Given the description of an element on the screen output the (x, y) to click on. 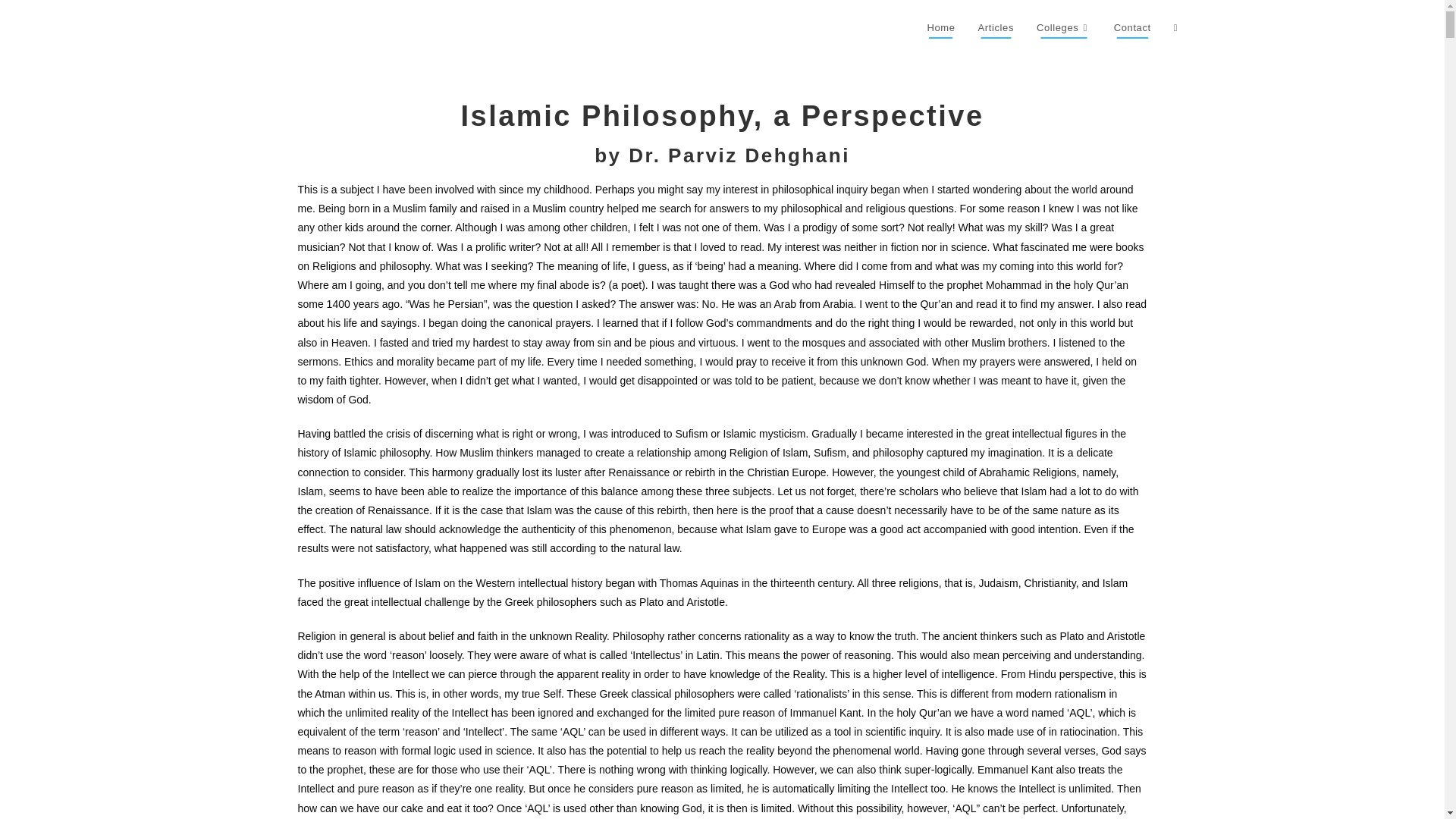
Colleges (1063, 28)
Home (940, 28)
Articles (995, 28)
Contact (1131, 28)
